Given the description of an element on the screen output the (x, y) to click on. 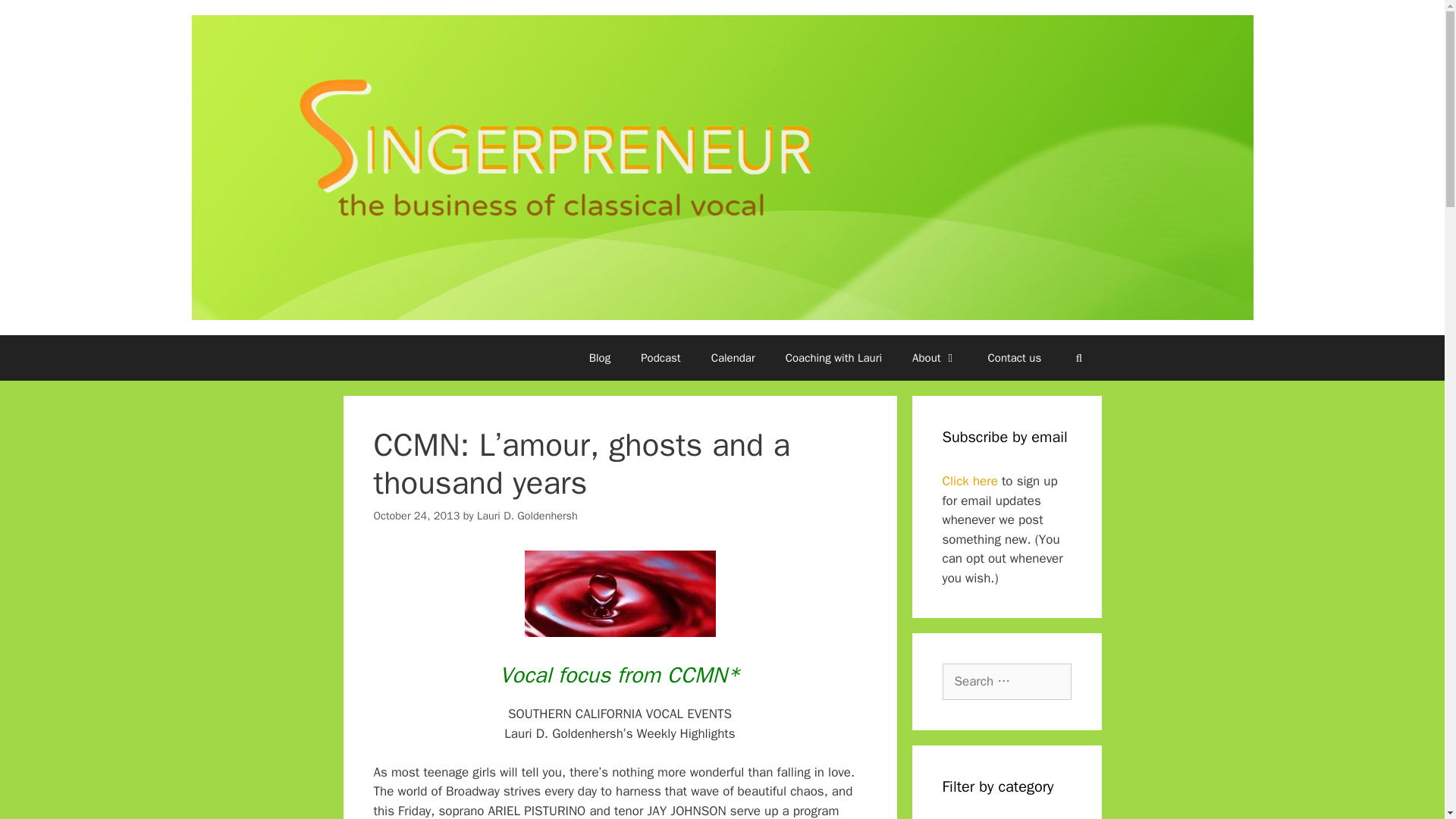
View all posts by Lauri D. Goldenhersh (527, 515)
About (934, 357)
Calendar (732, 357)
Coaching with Lauri (833, 357)
Podcast (660, 357)
Blog (599, 357)
Lauri D. Goldenhersh (527, 515)
Contact us (1014, 357)
